Given the description of an element on the screen output the (x, y) to click on. 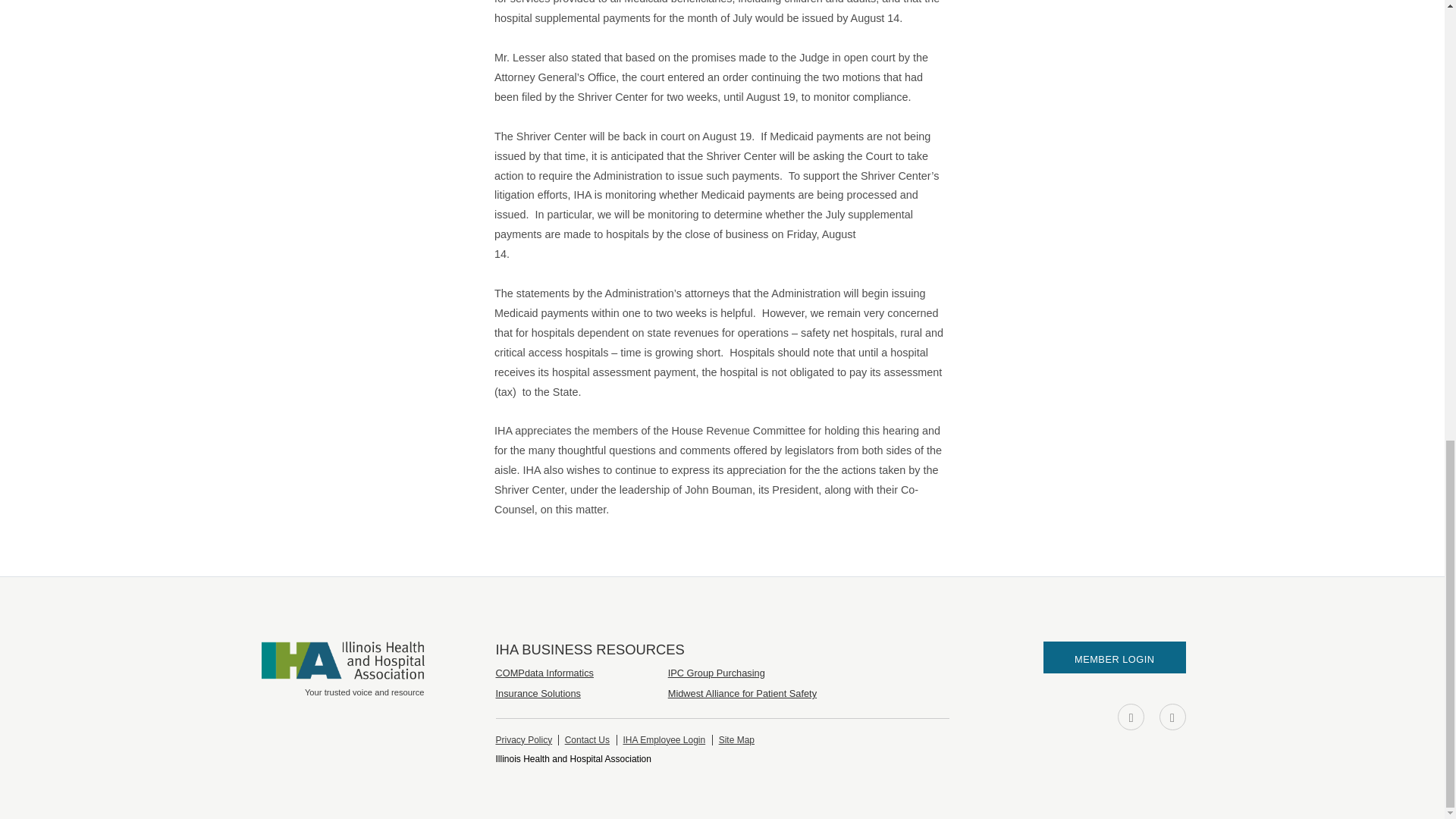
COMPdata Informatics (545, 672)
IPC Group Purchasing (716, 672)
Insurance Solutions (538, 693)
Privacy Policy (524, 739)
Midwest Alliance for Patient Safety (742, 693)
IHA on Facebook (1131, 716)
IHA on Twitter (1171, 716)
